Given the description of an element on the screen output the (x, y) to click on. 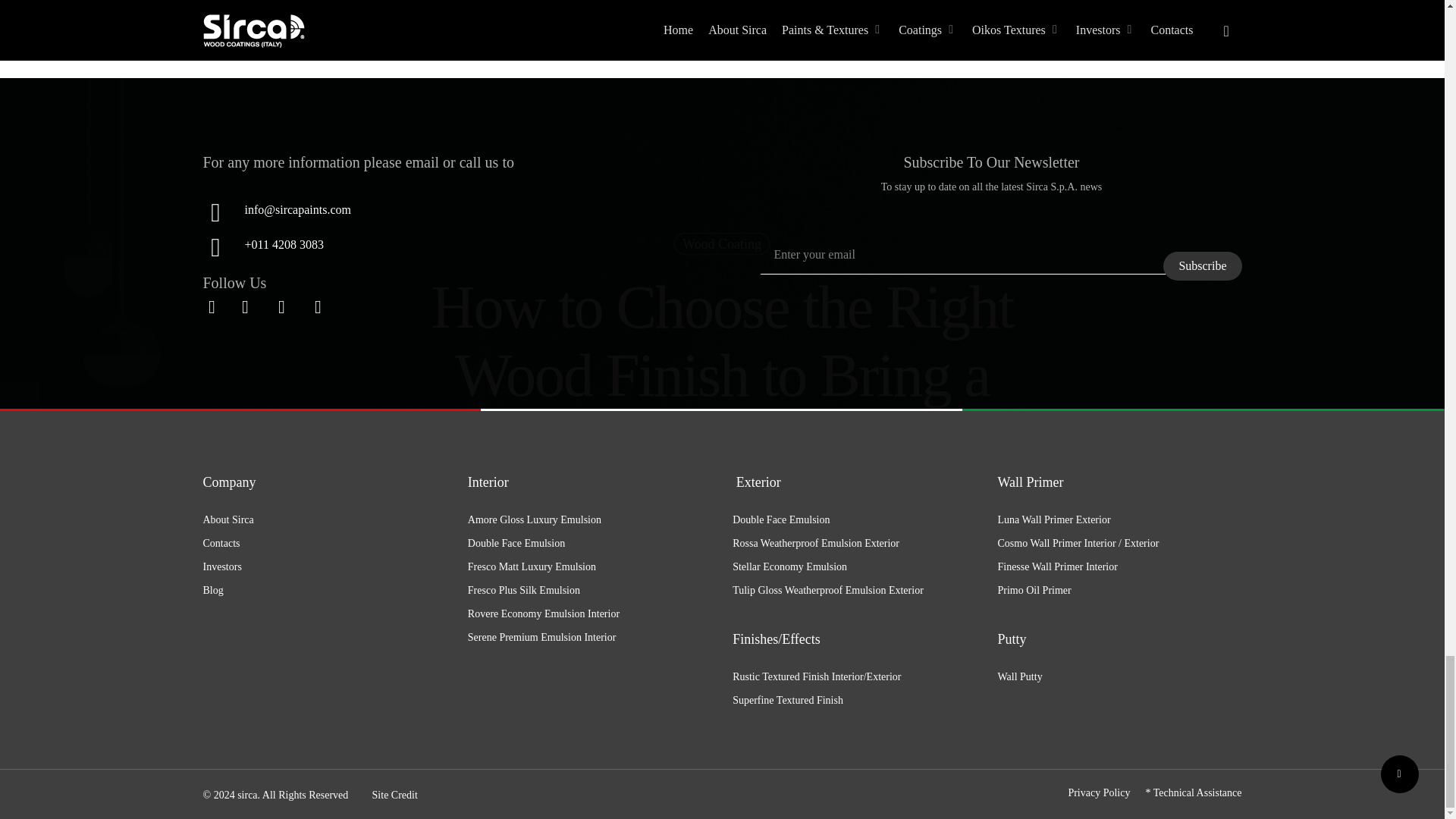
Subscribe (1202, 265)
